Given the description of an element on the screen output the (x, y) to click on. 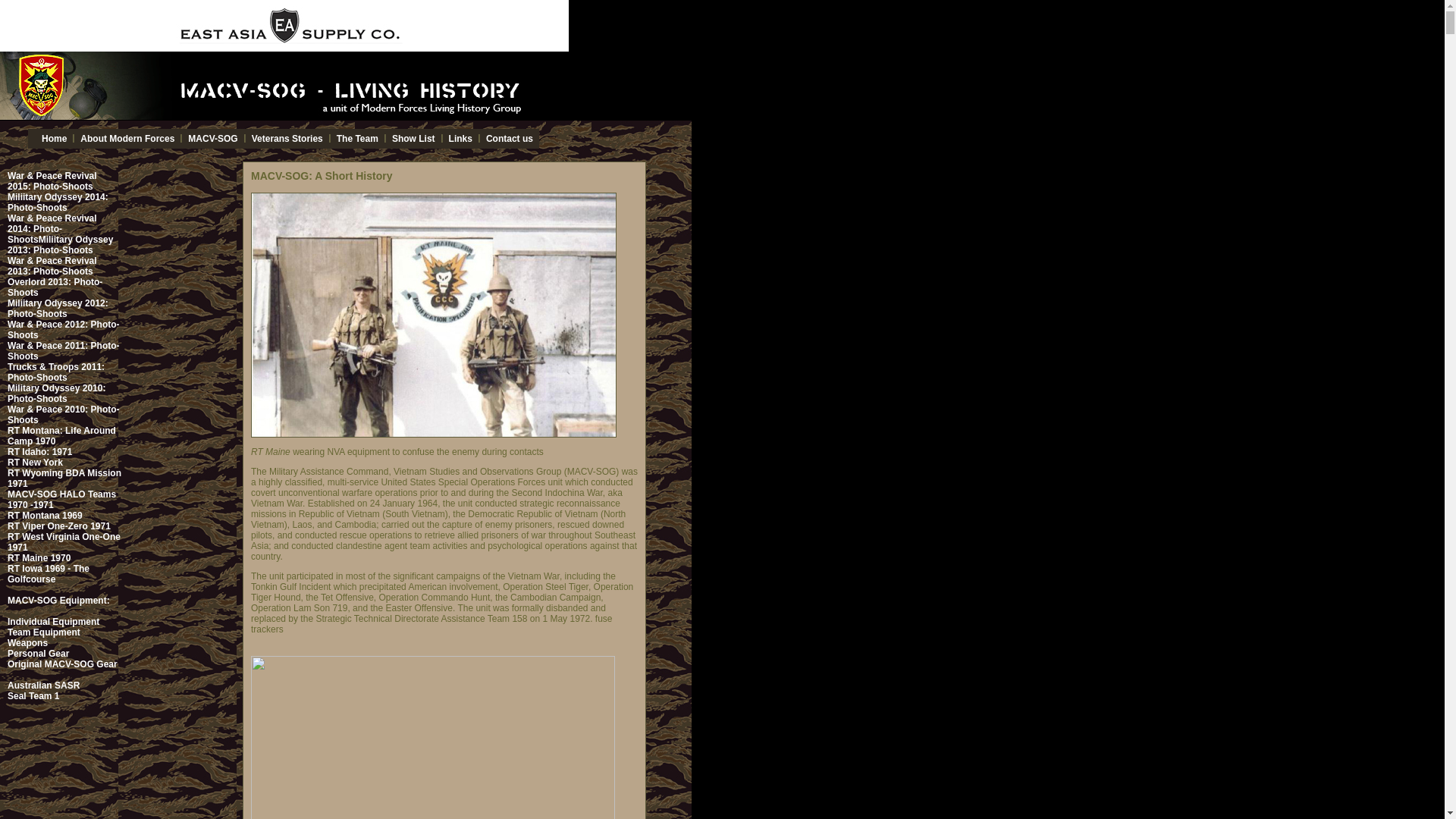
RT Wyoming BDA Mission 1971 (63, 477)
MACV-SOG Equipment: (58, 600)
MACV-SOG (212, 138)
About Modern Forces (127, 138)
RT West Virginia One-One 1971 (63, 541)
Team Equipment (43, 632)
Miliitary Odyssey 2012: Photo-Shoots (57, 308)
RT Iowa 1969 - The Golfcourse (47, 573)
Miliitary Odyssey 2014: Photo-Shoots (57, 201)
Seal Team 1 (33, 696)
